Given the description of an element on the screen output the (x, y) to click on. 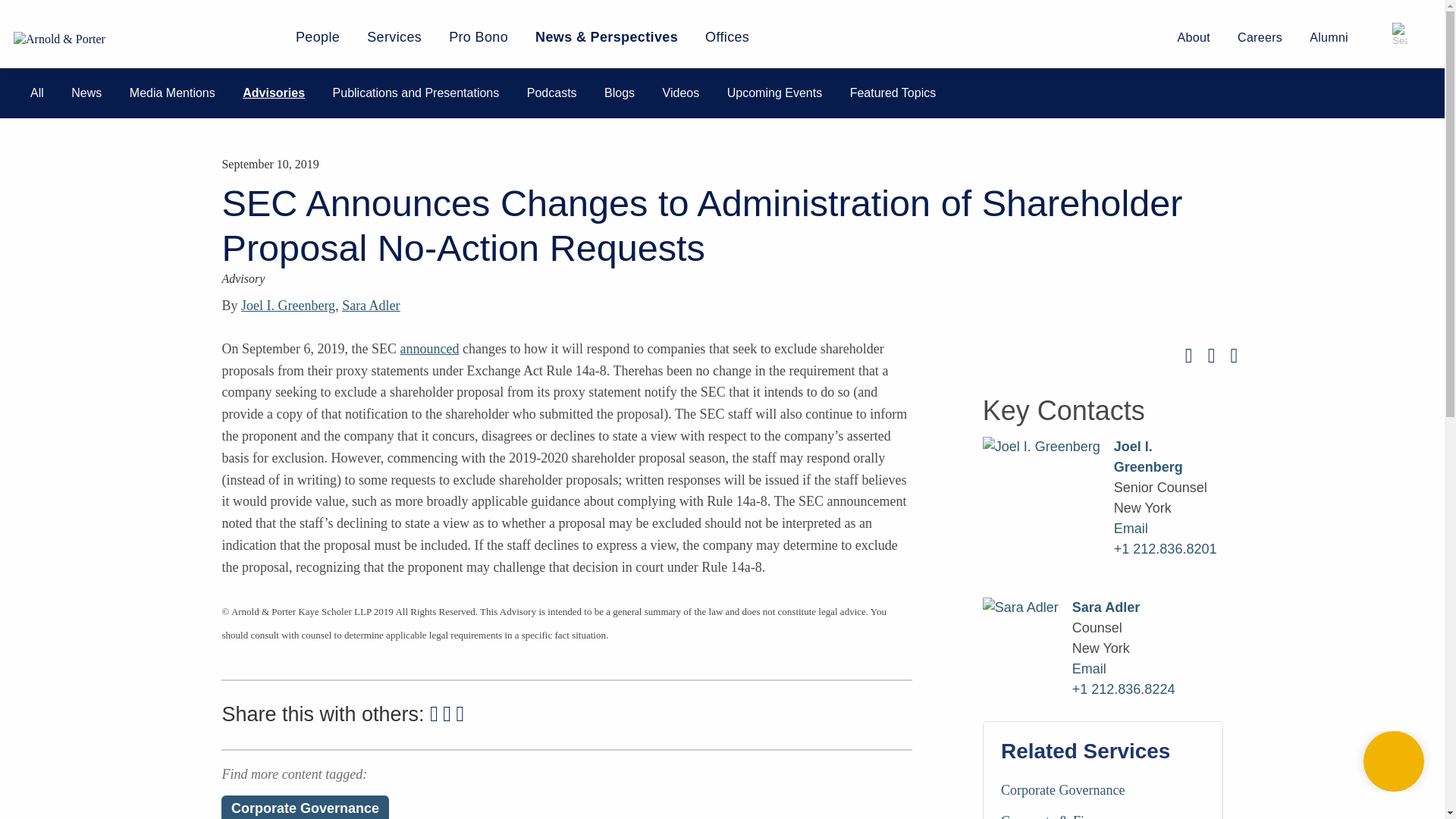
Podcasts (551, 93)
Publications and Presentations (416, 93)
Featured Topics (893, 93)
Offices (726, 43)
Joel I. Greenberg (287, 305)
Videos (681, 93)
Corporate Governance (304, 807)
People (317, 43)
Blogs (619, 93)
Pro Bono (478, 43)
